Given the description of an element on the screen output the (x, y) to click on. 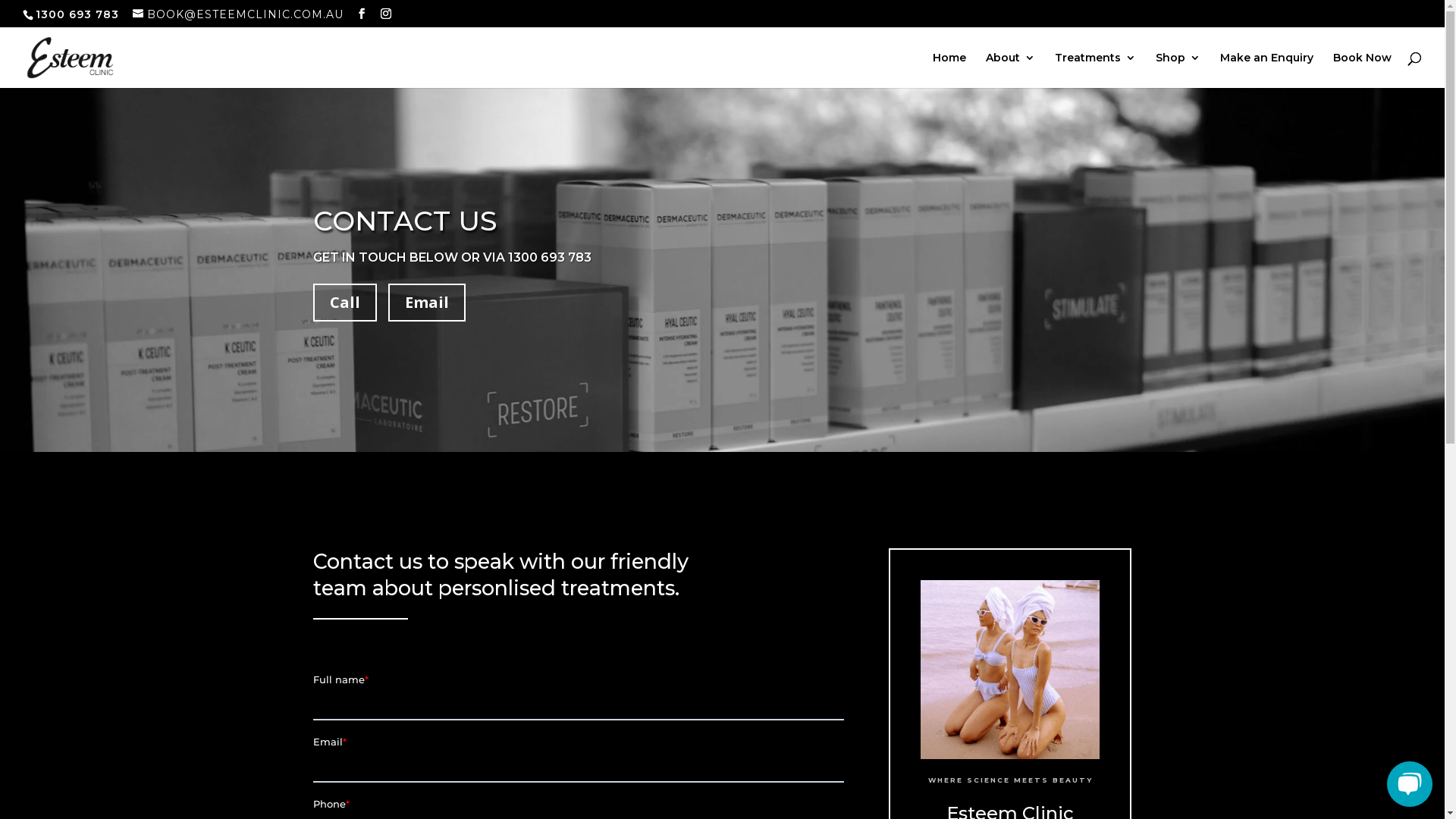
Home Element type: text (949, 69)
Treatments Element type: text (1094, 69)
Email Element type: text (426, 302)
Make an Enquiry Element type: text (1266, 69)
About Element type: text (1010, 69)
BOOK@ESTEEMCLINIC.COM.AU Element type: text (237, 14)
Shop Element type: text (1177, 69)
128 Element type: hover (1009, 669)
Book Now Element type: text (1362, 69)
Call Element type: text (344, 302)
